Given the description of an element on the screen output the (x, y) to click on. 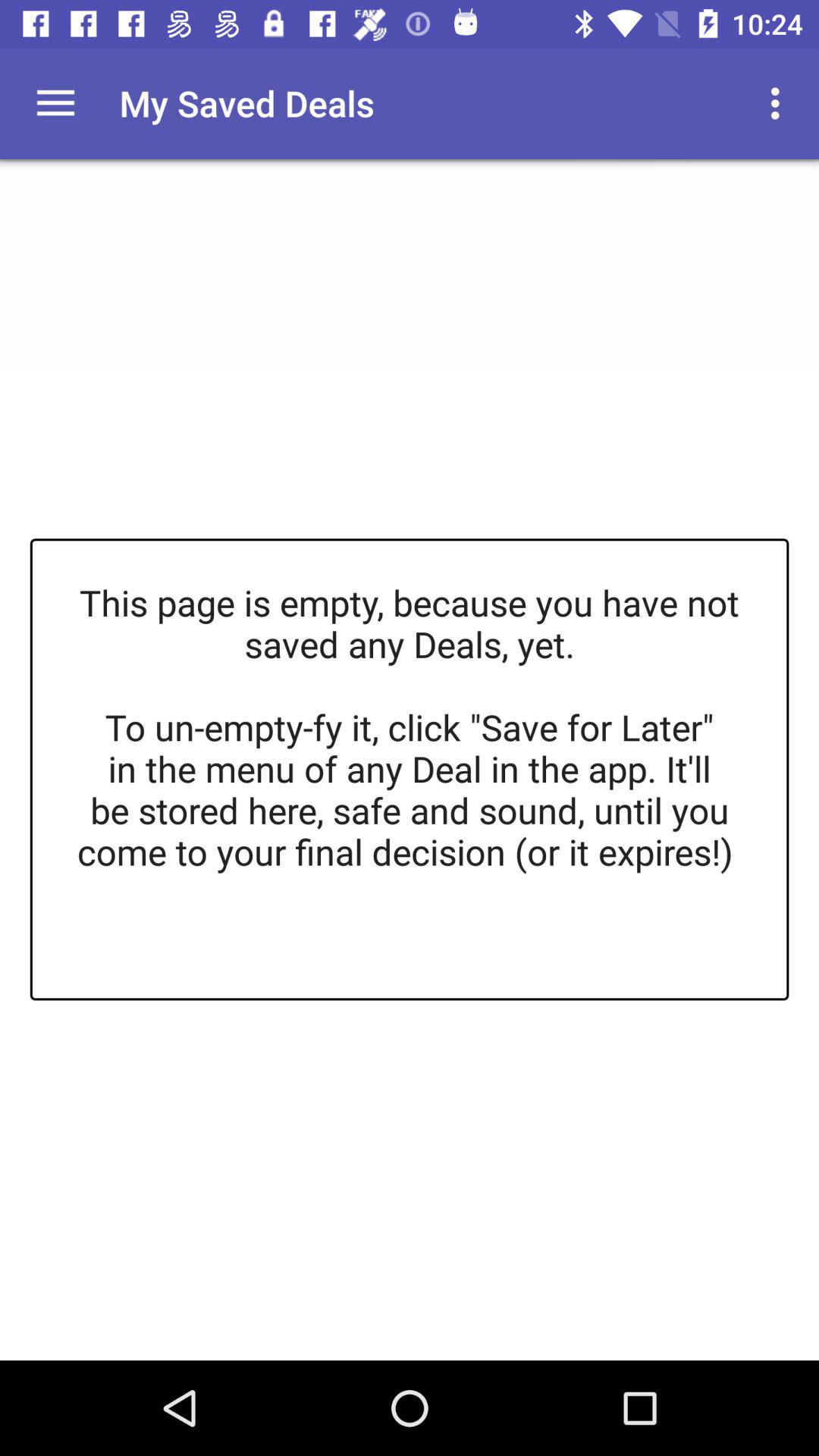
open main menu (55, 103)
